Given the description of an element on the screen output the (x, y) to click on. 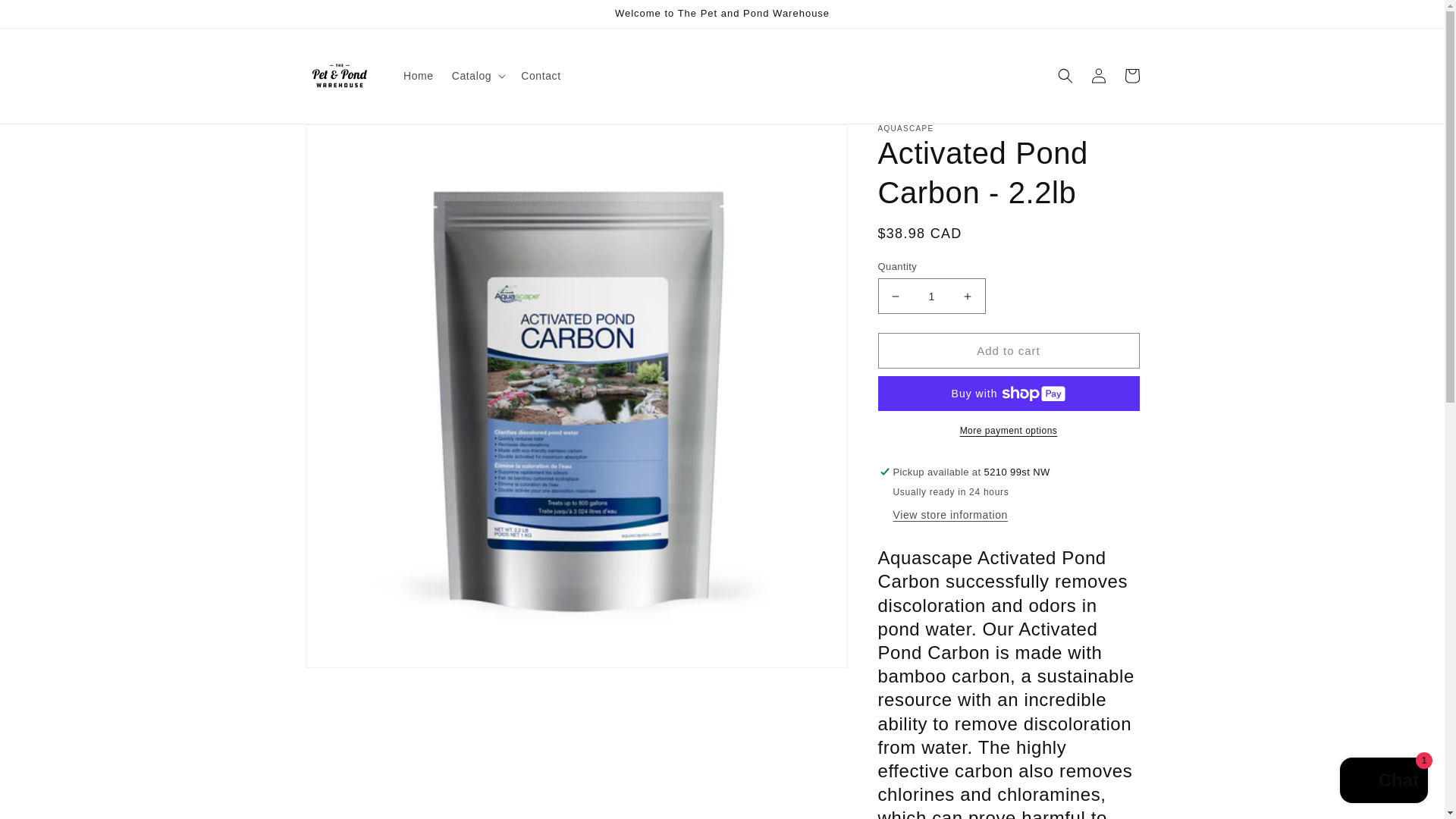
1 (931, 295)
Home (418, 75)
Skip to content (45, 17)
Shopify online store chat (1383, 781)
